Given the description of an element on the screen output the (x, y) to click on. 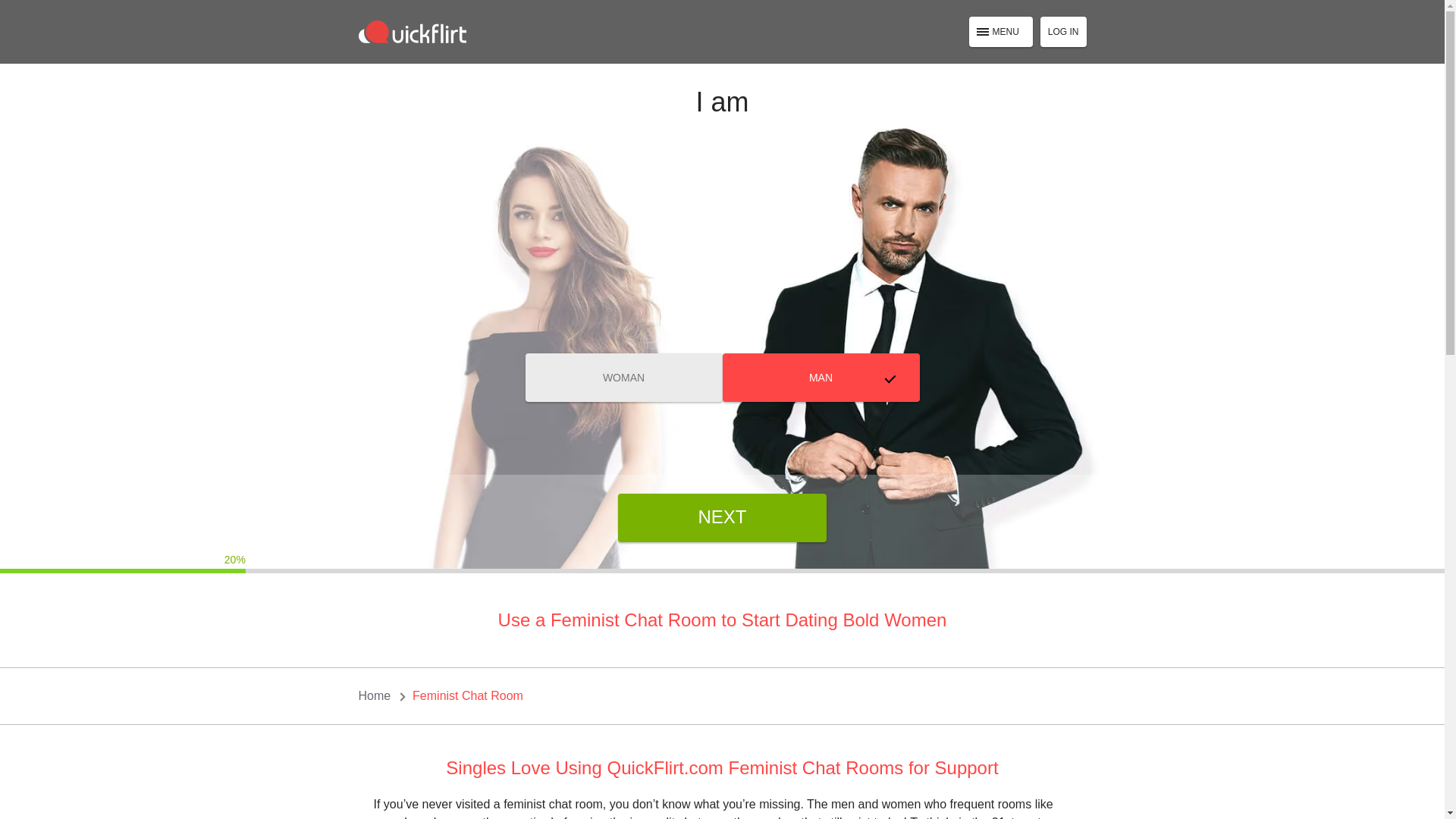
LOG IN (1063, 31)
NEXT (722, 517)
Home (374, 696)
